Given the description of an element on the screen output the (x, y) to click on. 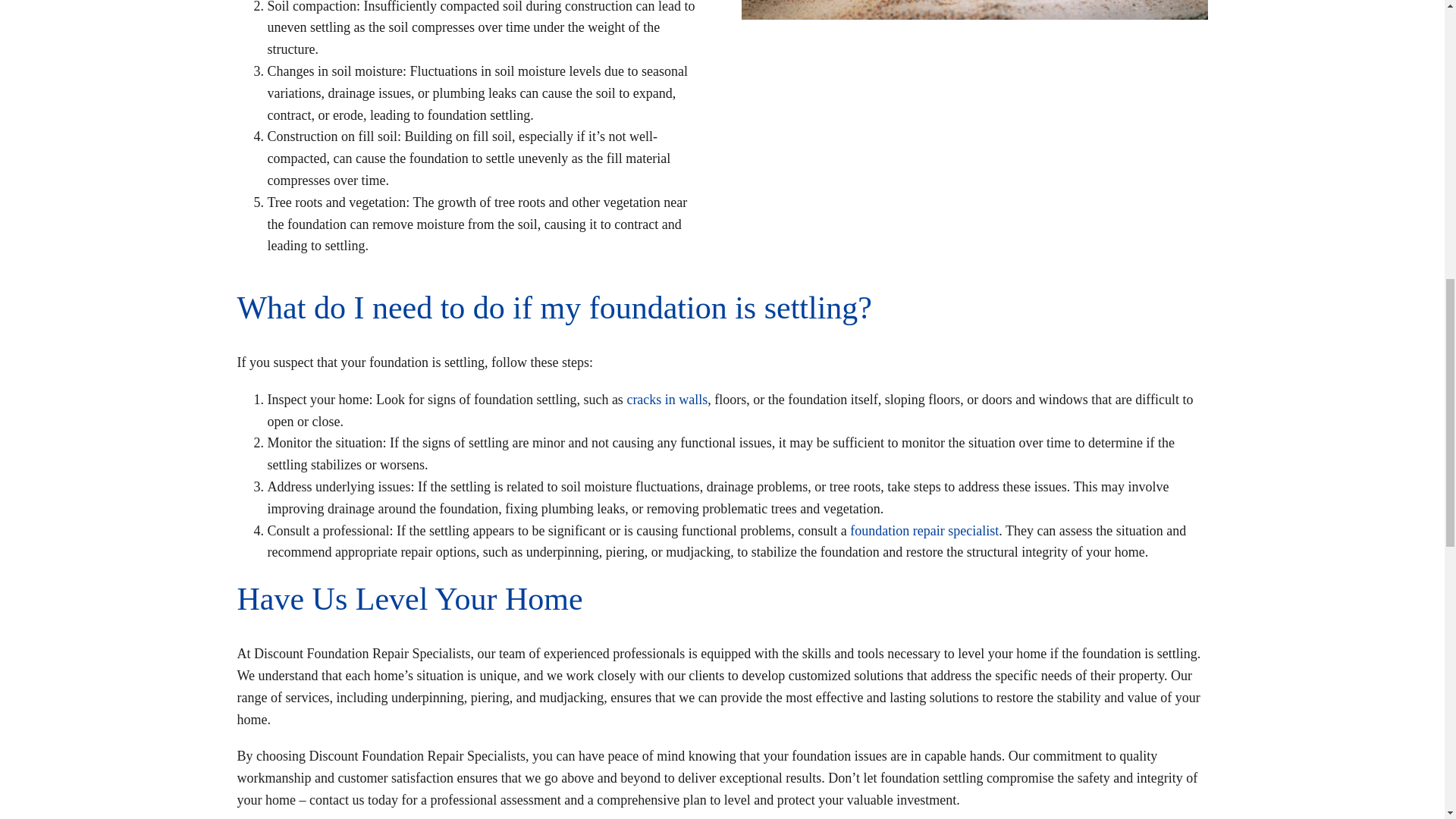
foundation settling in dallas fort worth (974, 9)
foundation repair specialist (924, 530)
cracks in walls (666, 399)
